Given the description of an element on the screen output the (x, y) to click on. 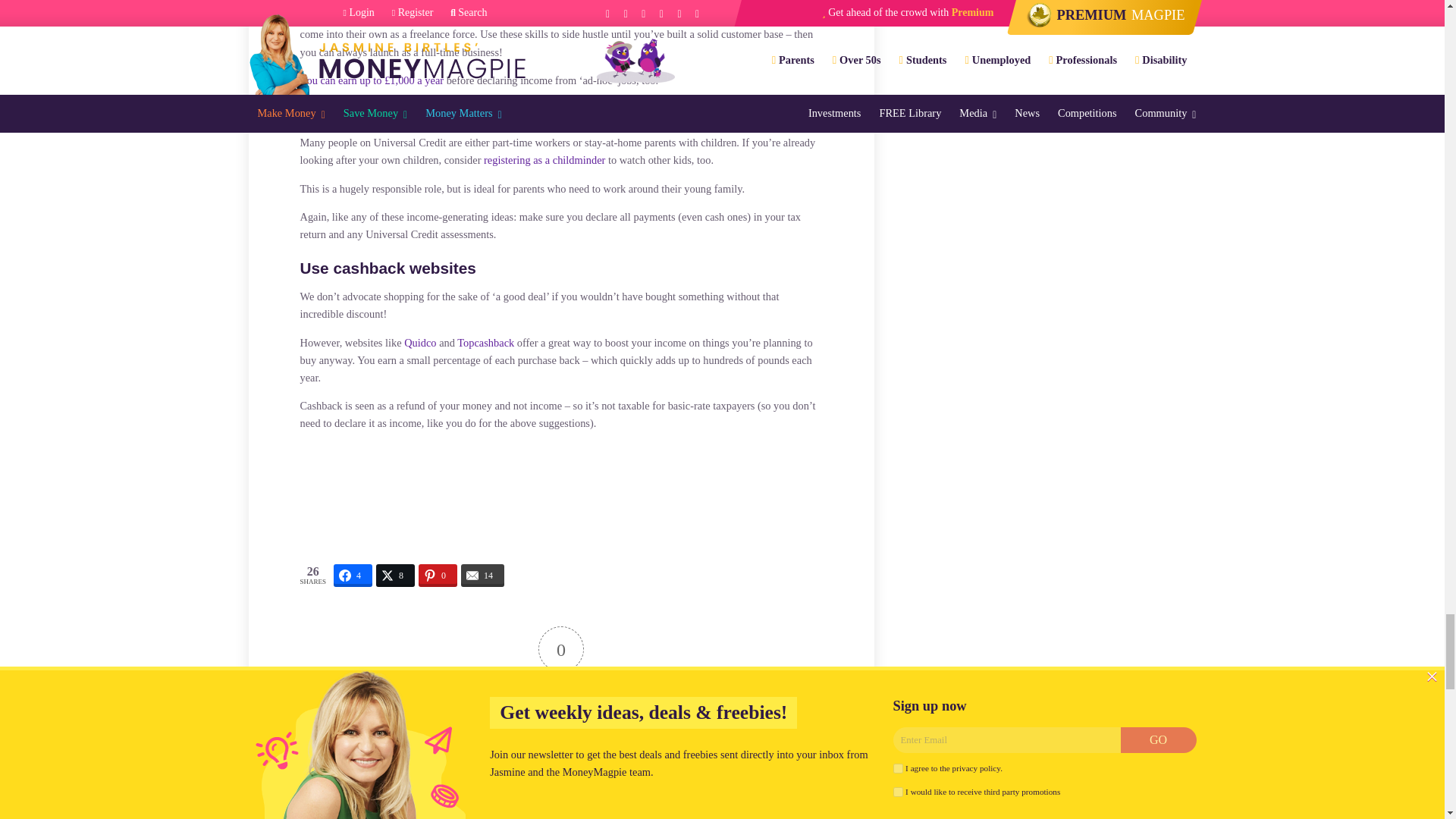
Share on Facebook (352, 575)
Share on Pinterest (438, 575)
Share on Email (482, 575)
Share on Twitter (394, 575)
